Given the description of an element on the screen output the (x, y) to click on. 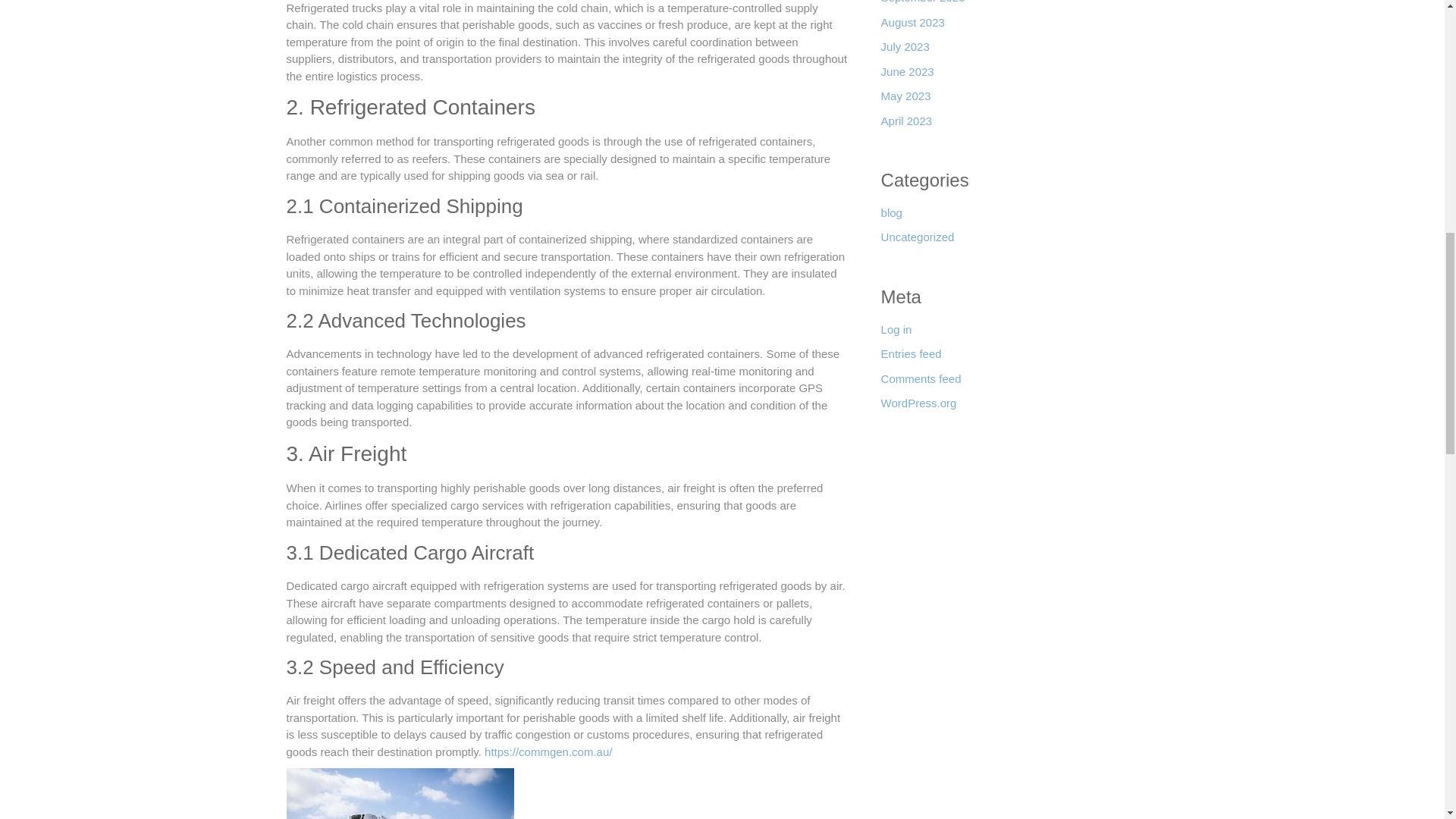
September 2023 (922, 7)
August 2023 (912, 26)
 transport refrigerated goods (399, 793)
